Given the description of an element on the screen output the (x, y) to click on. 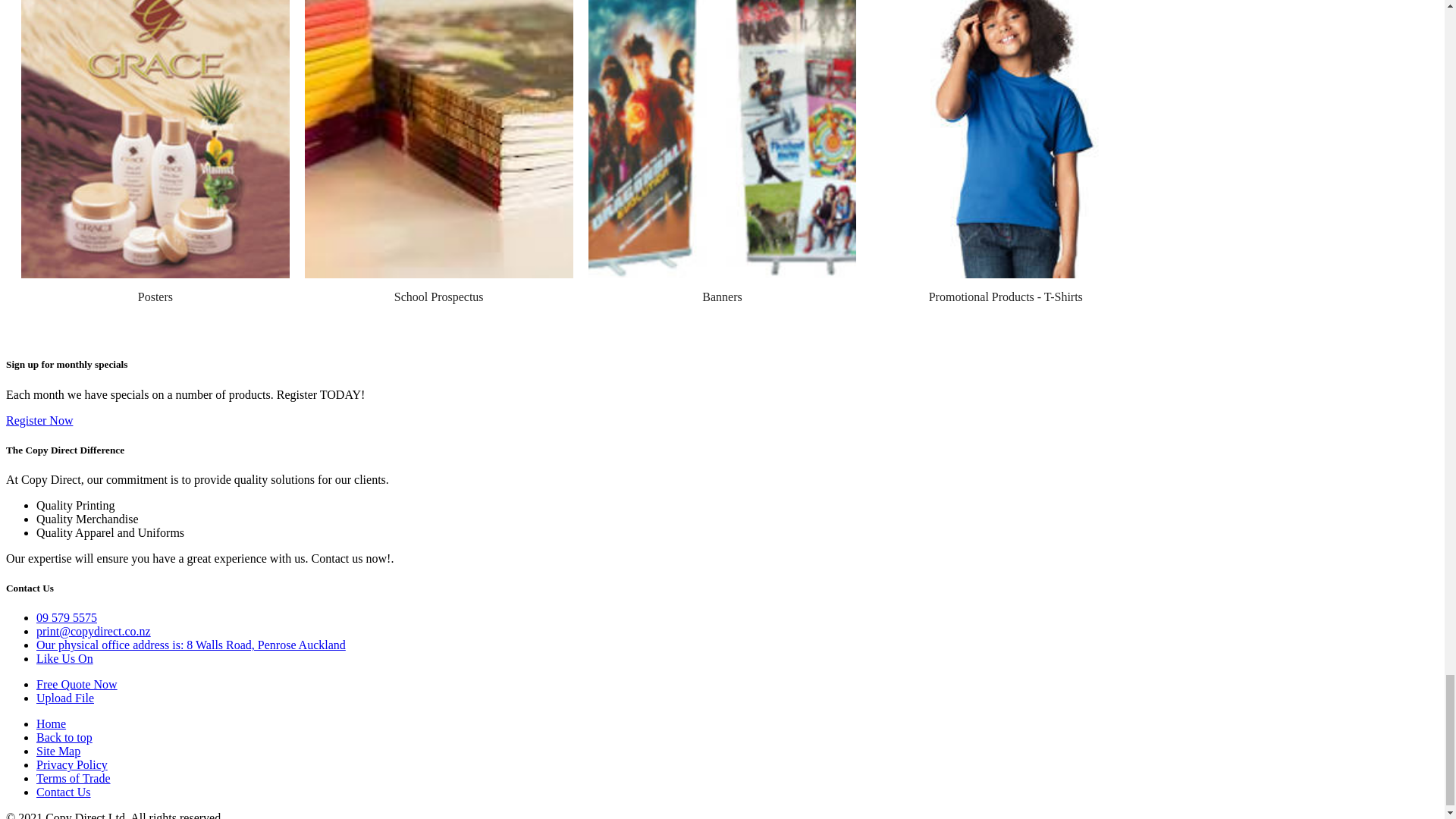
Posters (155, 296)
School Prospectus (438, 296)
Banners (721, 296)
